Given the description of an element on the screen output the (x, y) to click on. 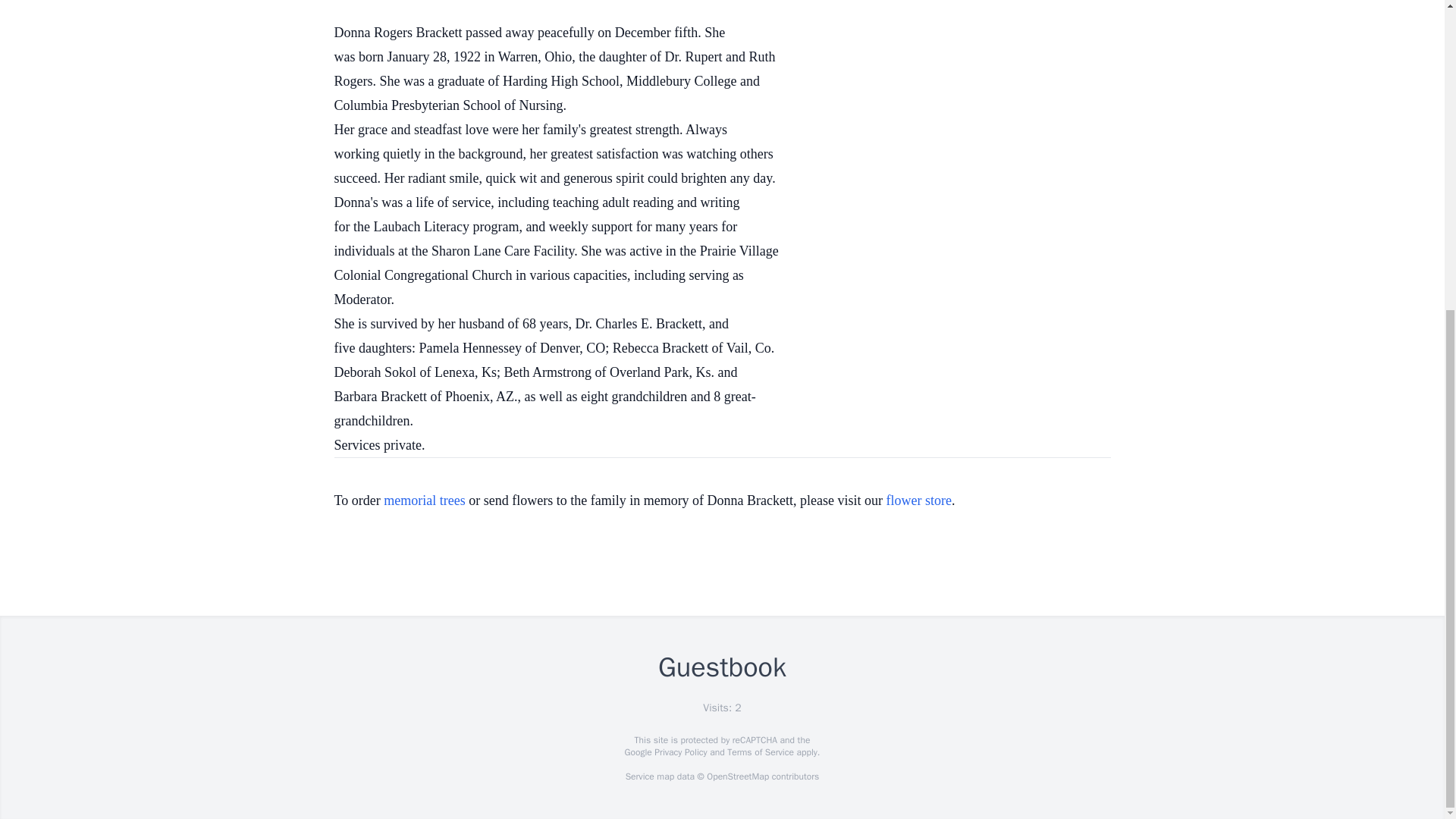
Privacy Policy (679, 752)
memorial trees (424, 500)
flower store (919, 500)
Terms of Service (759, 752)
OpenStreetMap (737, 776)
